Given the description of an element on the screen output the (x, y) to click on. 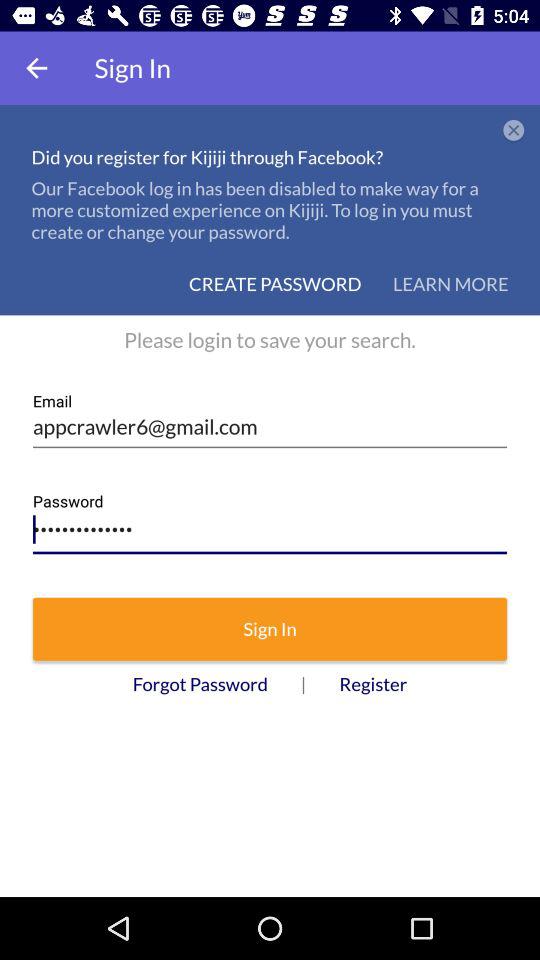
select the item above the our facebook log (513, 131)
